Given the description of an element on the screen output the (x, y) to click on. 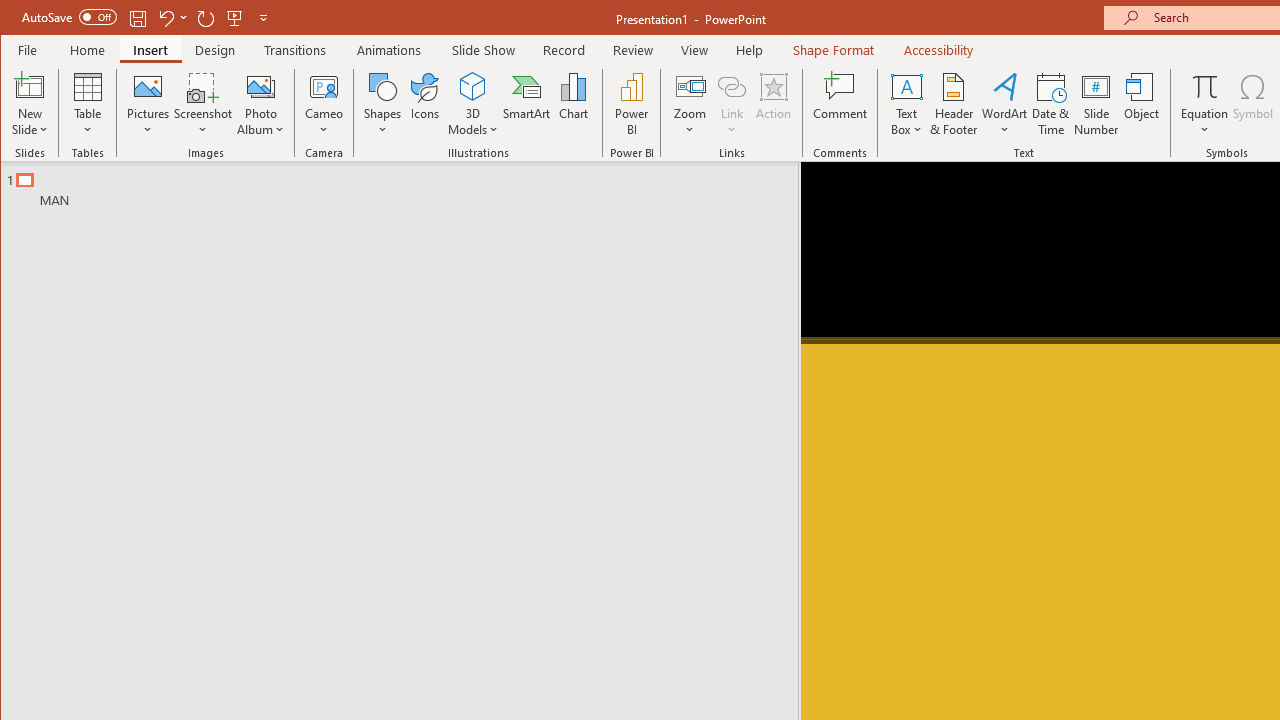
Action (773, 104)
Date & Time... (1051, 104)
Power BI (631, 104)
Comment (840, 104)
